Given the description of an element on the screen output the (x, y) to click on. 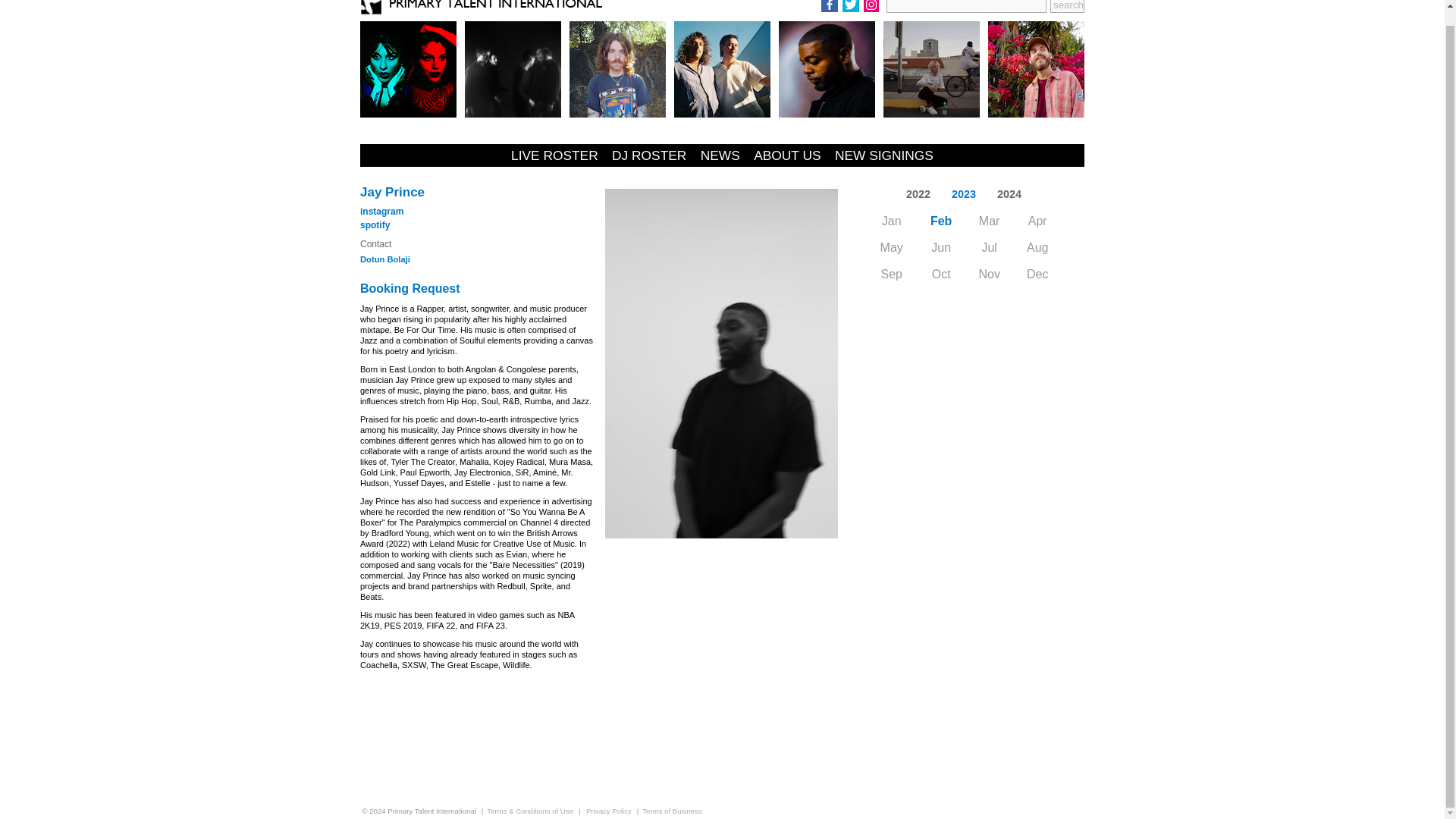
Terms of Business (671, 810)
Men I Trust (931, 69)
2022 (917, 193)
search (1066, 6)
spotify (374, 225)
Dotun Bolaji (384, 258)
ABOUT US (786, 155)
Field Medic (617, 69)
San Holo (1036, 69)
NEWS (720, 155)
search (1066, 6)
NEW SIGNINGS (883, 155)
Krewella (408, 69)
Shouse (722, 69)
Booking Request (409, 287)
